Given the description of an element on the screen output the (x, y) to click on. 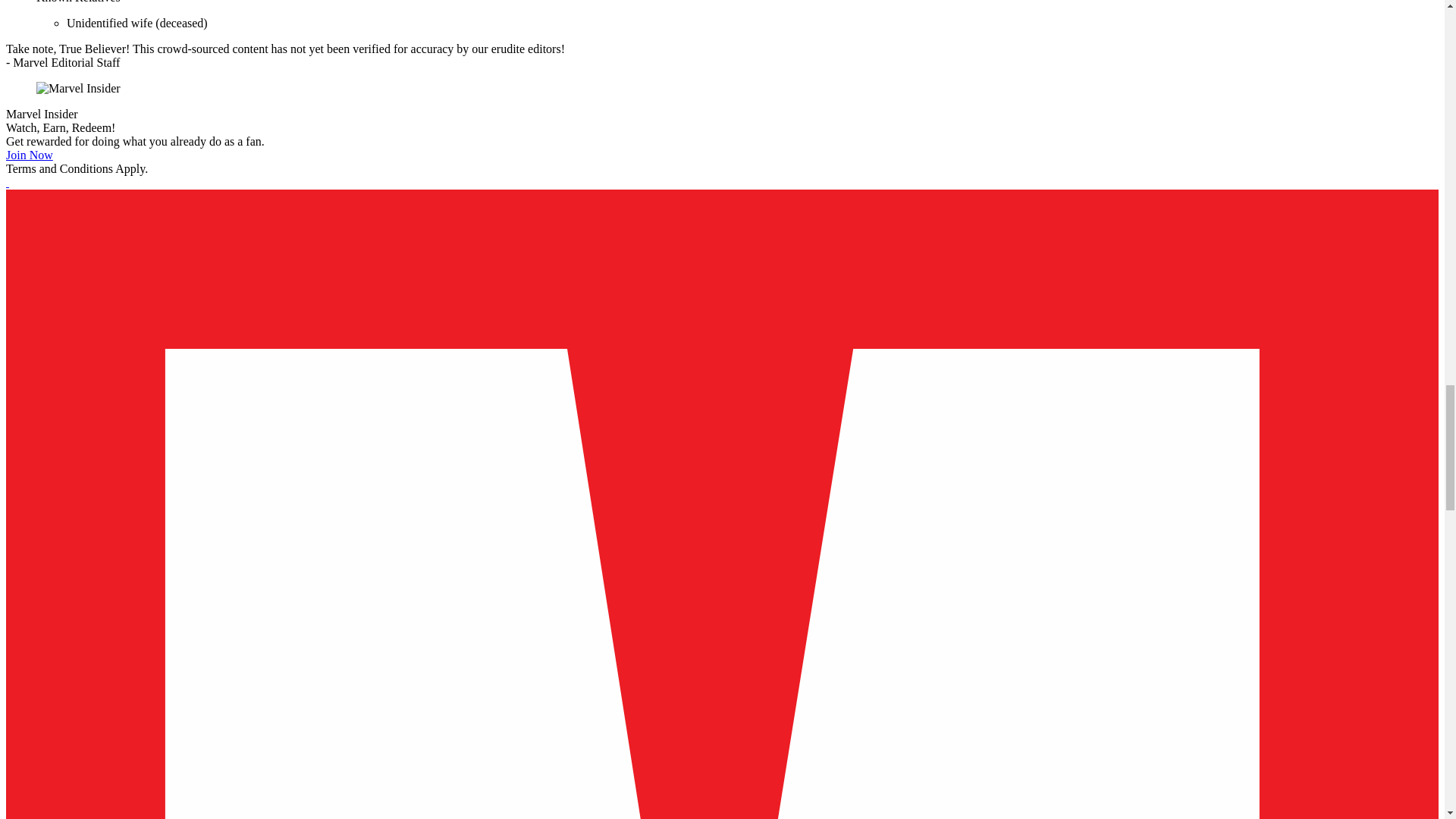
Join Now (28, 154)
